Given the description of an element on the screen output the (x, y) to click on. 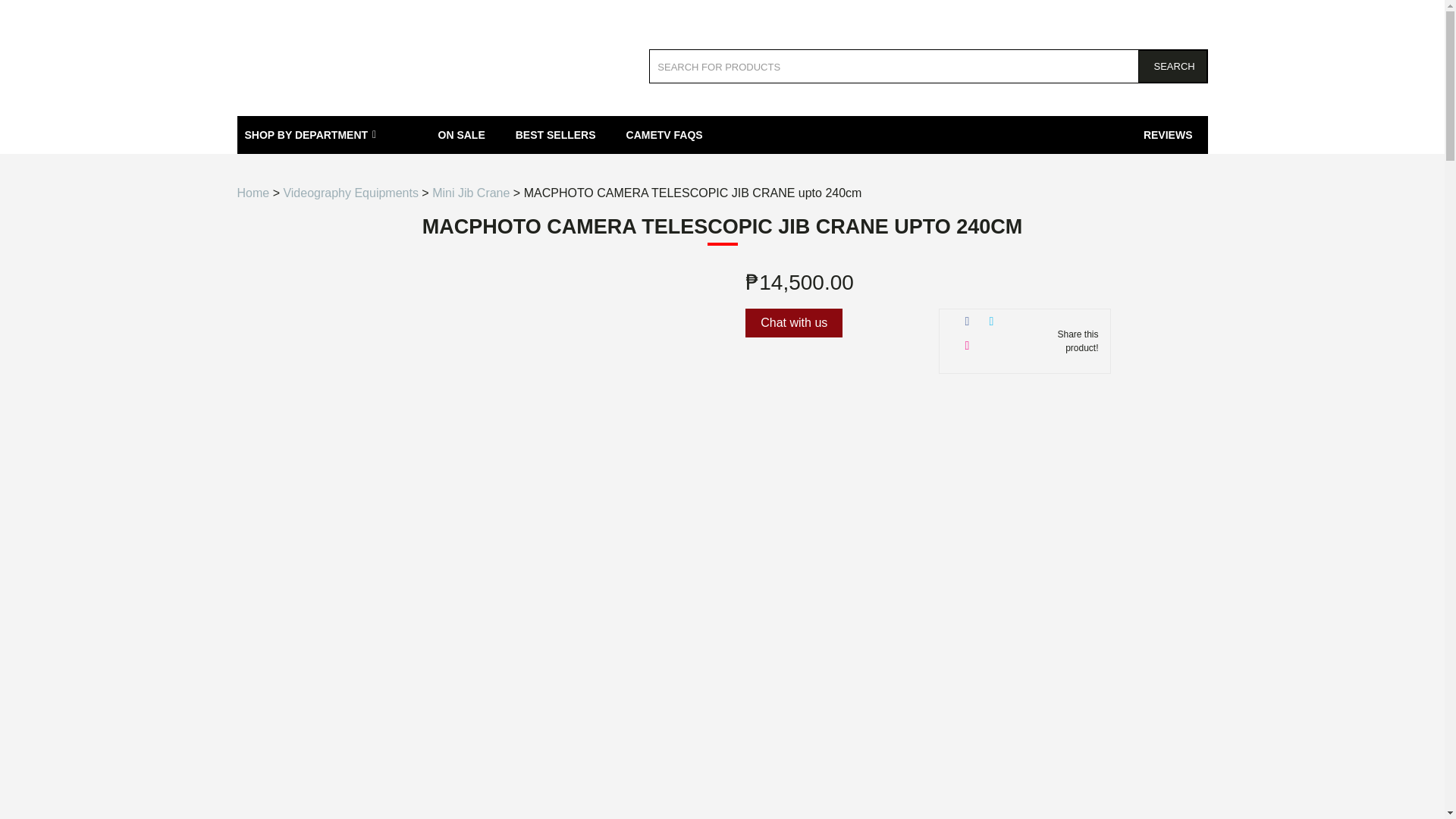
APEX DIGITAL (334, 61)
Search (1172, 65)
SHOP BY DEPARTMENT (328, 134)
Search (1172, 65)
